Given the description of an element on the screen output the (x, y) to click on. 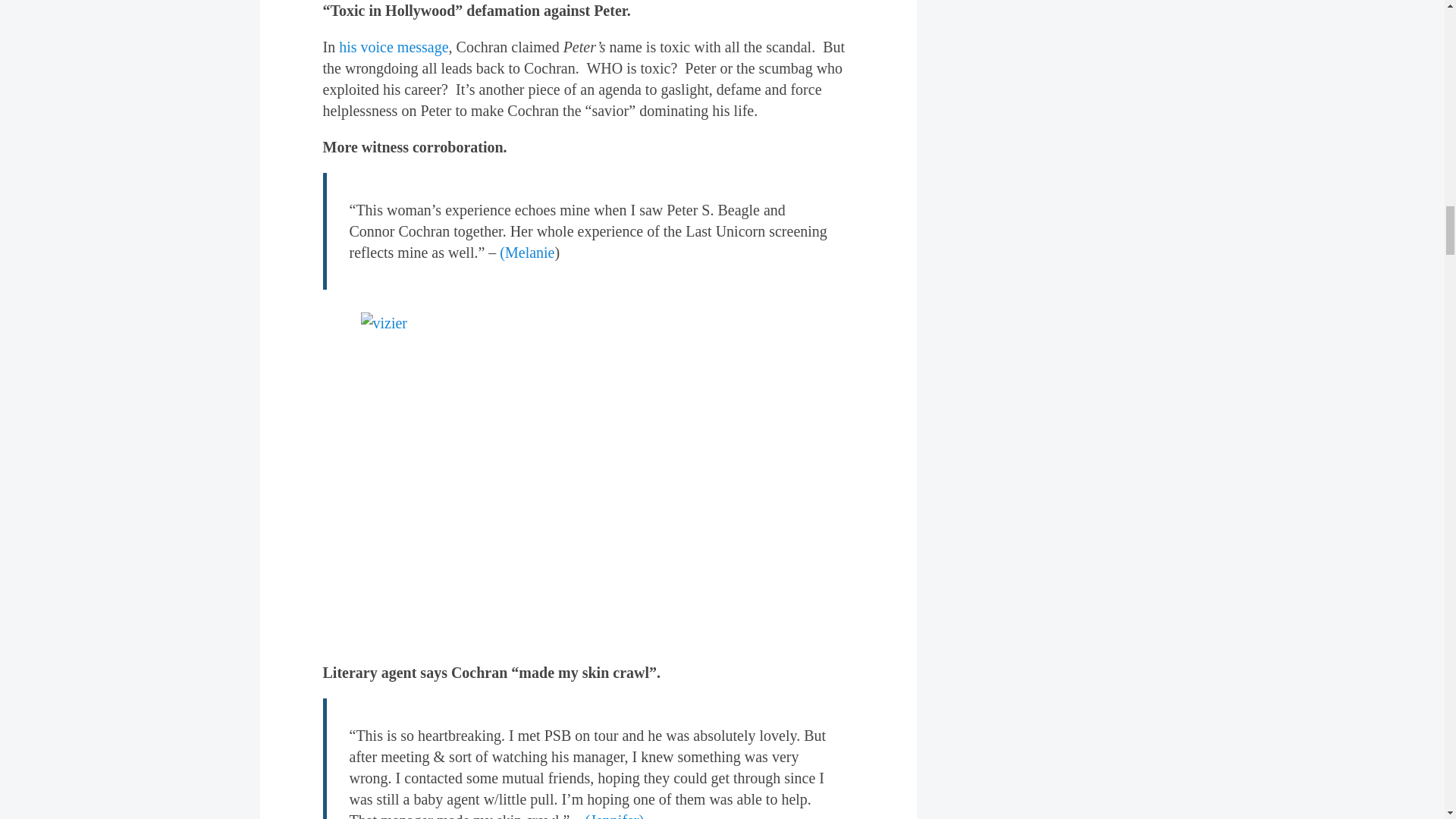
his voice message (393, 46)
